Given the description of an element on the screen output the (x, y) to click on. 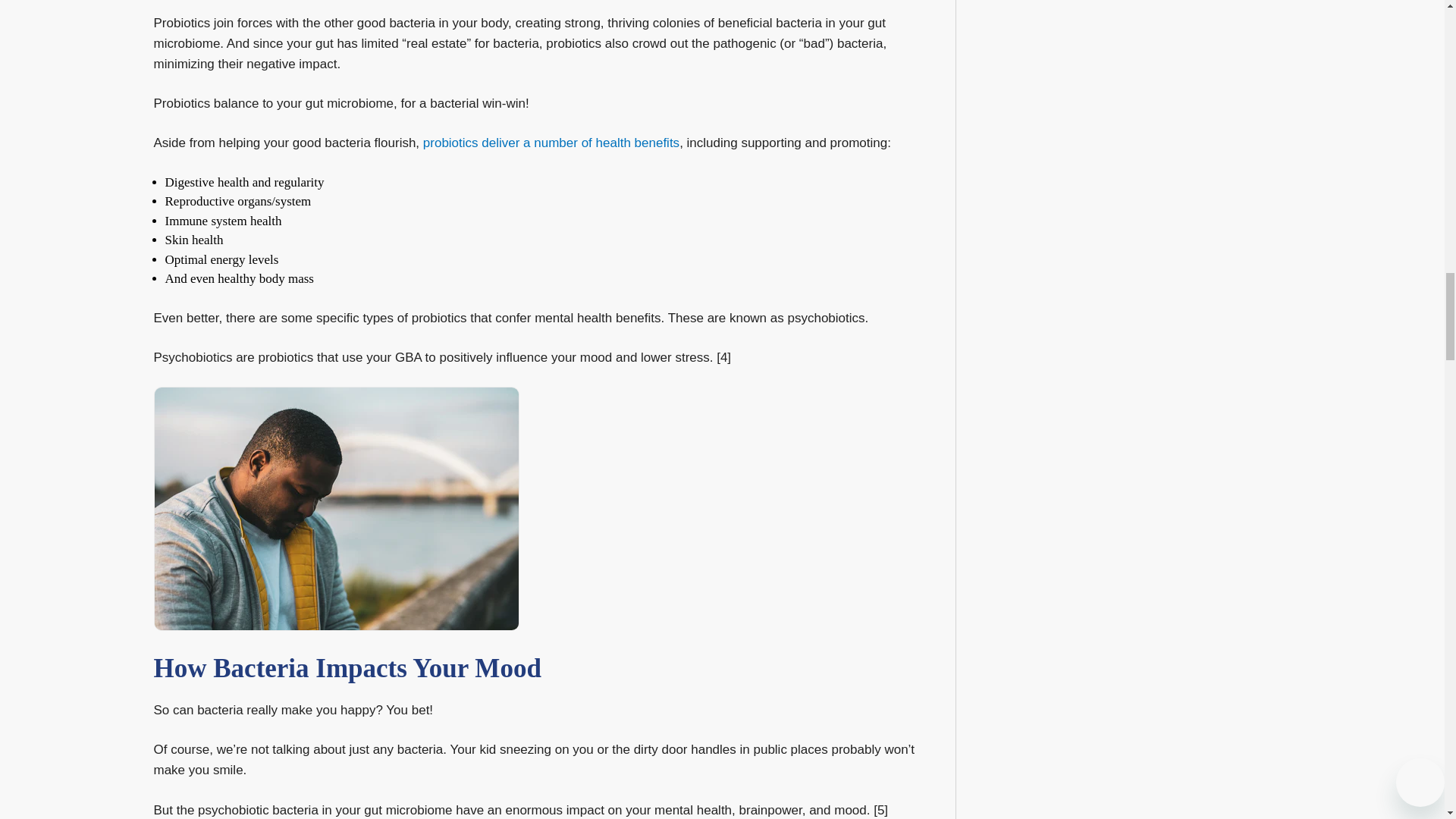
probiotic health benefits (551, 142)
